Given the description of an element on the screen output the (x, y) to click on. 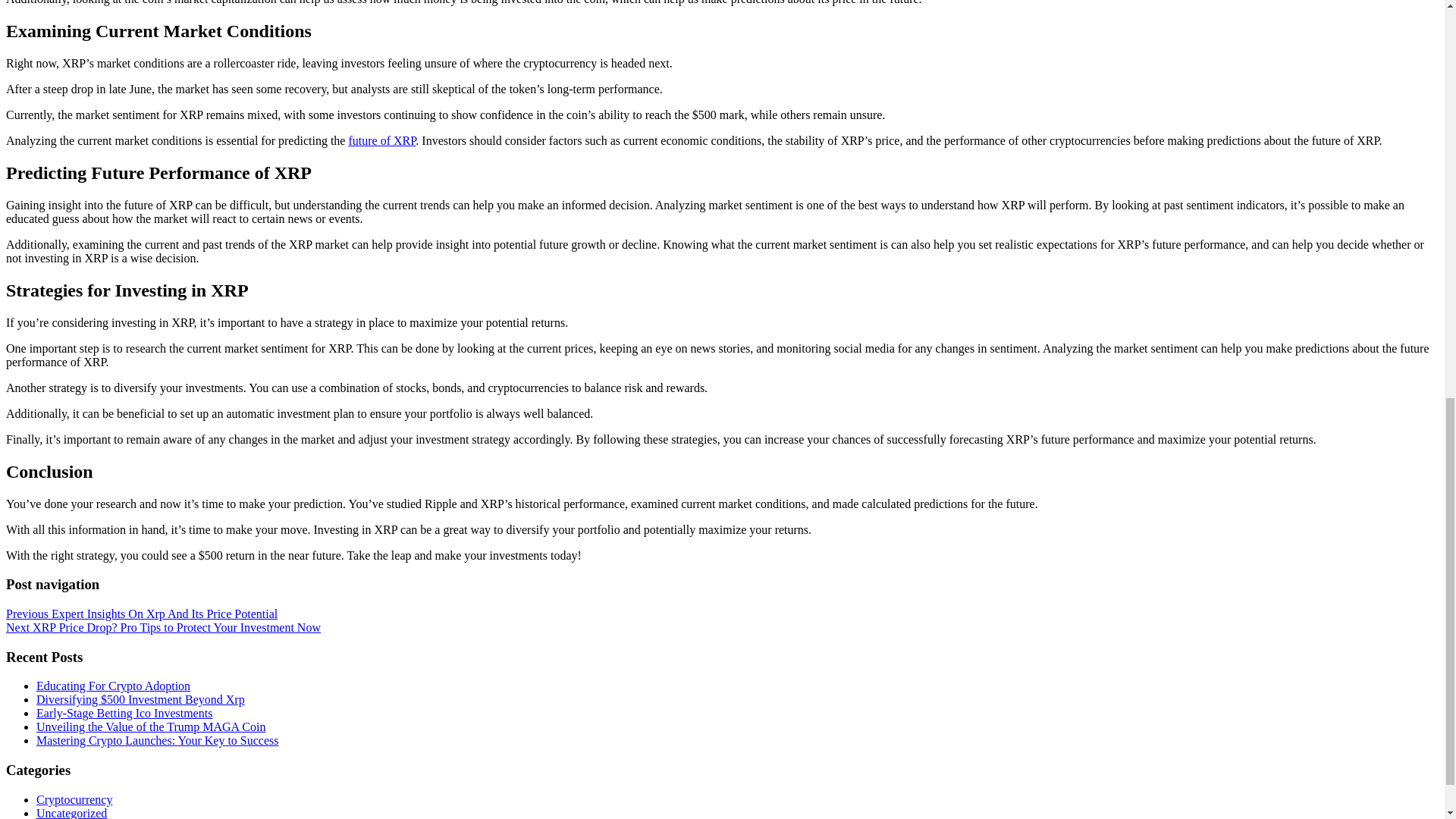
Early-Stage Betting Ico Investments (124, 712)
Uncategorized (71, 812)
Next XRP Price Drop? Pro Tips to Protect Your Investment Now (162, 626)
Cryptocurrency (74, 799)
Previous Expert Insights On Xrp And Its Price Potential (141, 613)
future of XRP (380, 140)
Mastering Crypto Launches: Your Key to Success (157, 739)
future of XRP (380, 140)
Unveiling the Value of the Trump MAGA Coin (150, 726)
Educating For Crypto Adoption (113, 685)
